Given the description of an element on the screen output the (x, y) to click on. 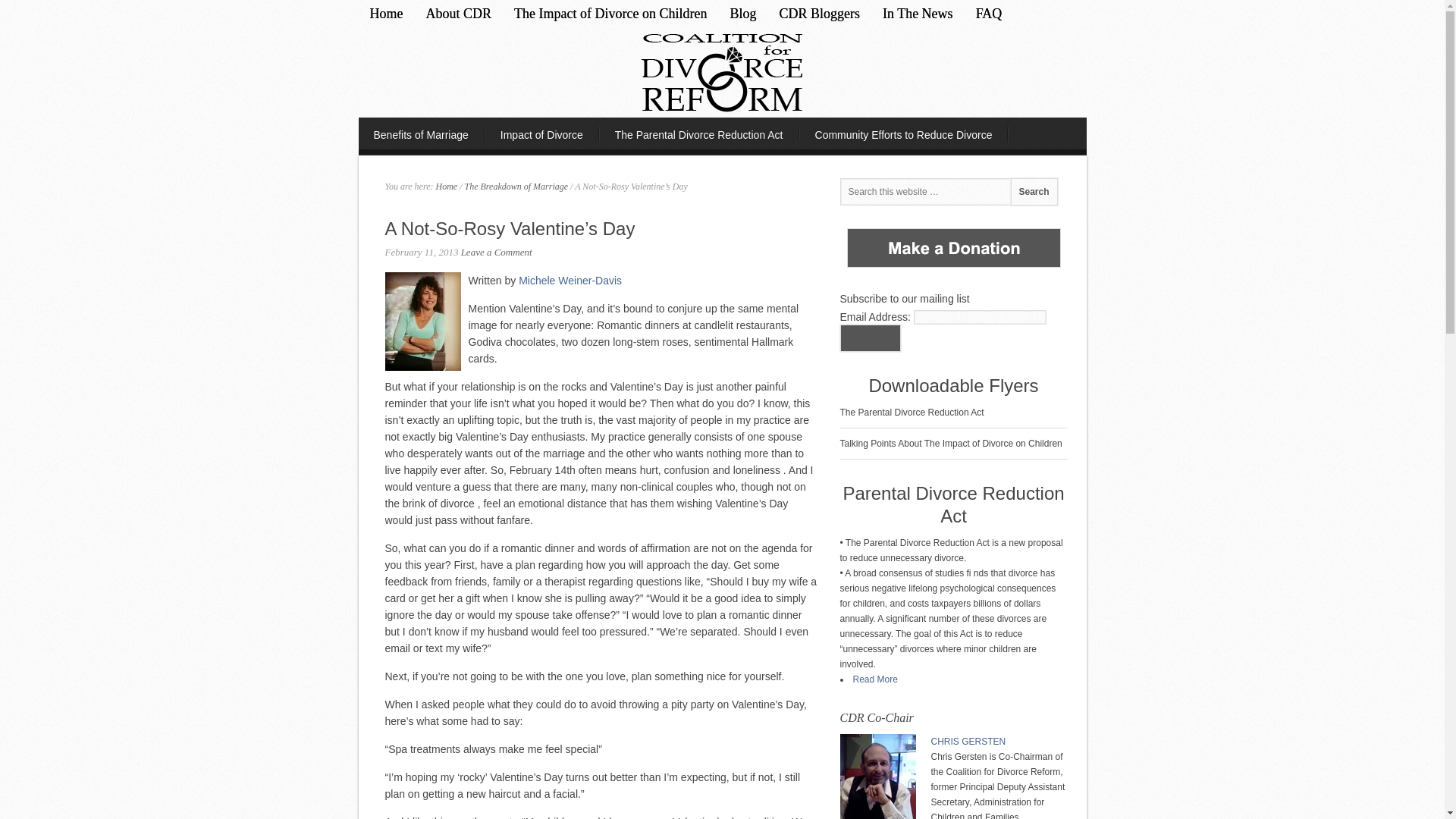
Blog (742, 13)
Leave a Comment (496, 251)
Search (1033, 191)
FAQ (988, 13)
About CDR (457, 13)
The Parental Divorce Reduction Act (699, 133)
Michele Weiner-Davis (569, 280)
Home (446, 185)
MICHELE WEINER-DAVIS (423, 321)
Home (385, 13)
The Impact of Divorce on Children (609, 13)
COALITION FOR DIVORCE REFORM (722, 71)
In The News (916, 13)
Search (1033, 191)
CDR Bloggers (818, 13)
